Given the description of an element on the screen output the (x, y) to click on. 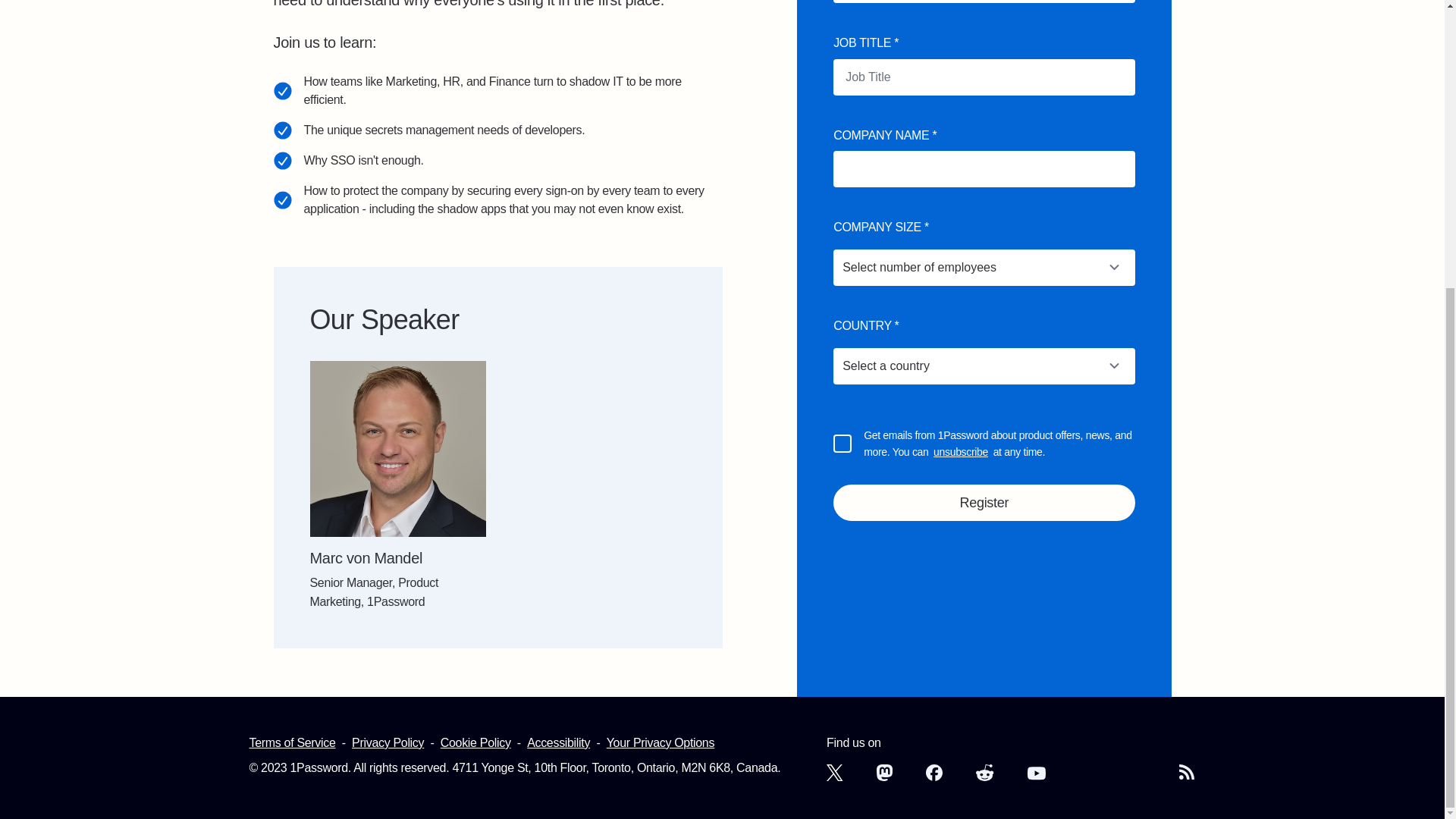
1Password on X (835, 772)
Accessibility (558, 742)
1Password Mastodon (884, 772)
Privacy Policy (387, 742)
1Password on Reddit (984, 772)
1Password RSS (1187, 771)
Your Privacy Options (660, 742)
1Password on Facebook (934, 772)
Cookie Policy (476, 742)
Terms of Service (291, 742)
Register (983, 502)
unsubscribe (960, 451)
1Password on YouTube (1036, 773)
